Given the description of an element on the screen output the (x, y) to click on. 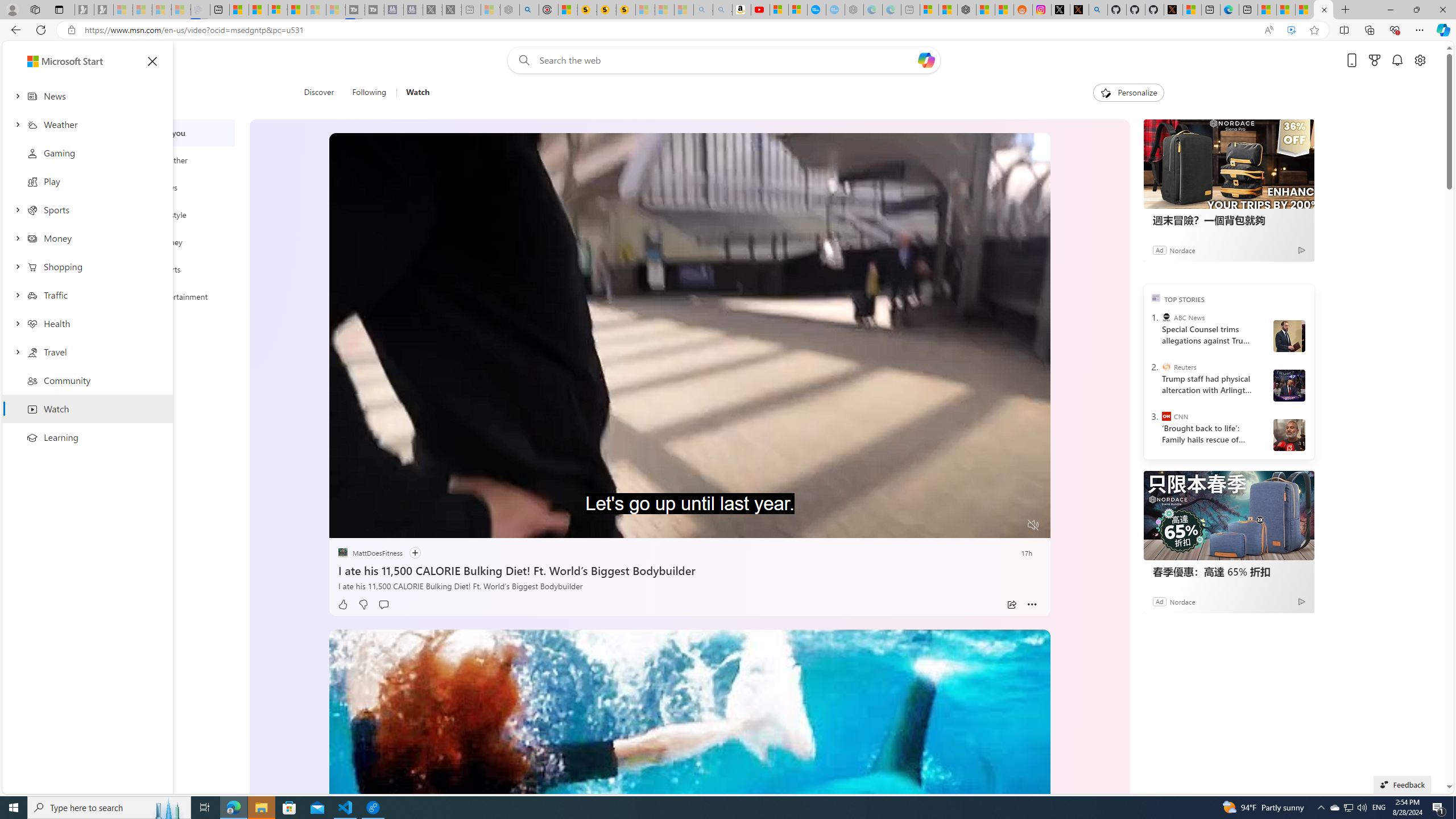
MSNBC - MSN (1285, 9)
Overview (277, 9)
Close menu (151, 61)
Newsletter Sign Up - Sleeping (102, 9)
Quality Settings (964, 525)
